Given the description of an element on the screen output the (x, y) to click on. 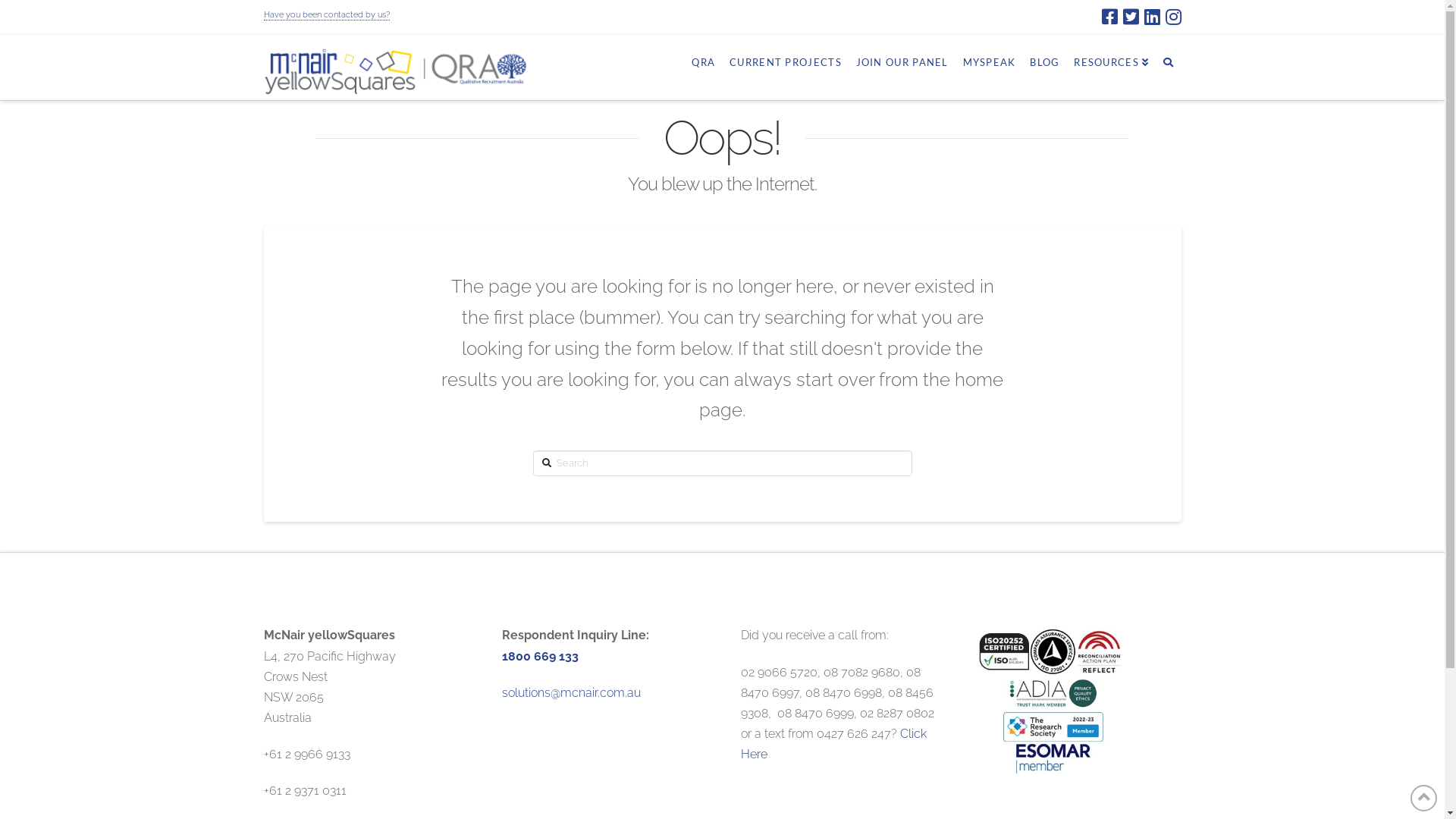
Twitter Element type: hover (1130, 16)
Back to Top Element type: hover (1423, 797)
Instagram Element type: hover (1172, 16)
RESOURCES Element type: text (1110, 60)
Have you been contacted by us? Element type: text (326, 14)
CURRENT PROJECTS Element type: text (784, 60)
solutions@mcnair.com.au Element type: text (571, 692)
Click Here Element type: text (833, 743)
1800 669 133 Element type: text (540, 656)
MYSPEAK Element type: text (988, 60)
JOIN OUR PANEL Element type: text (901, 60)
QRA Element type: text (702, 60)
Facebook Element type: hover (1109, 16)
LinkedIn Element type: hover (1151, 16)
BLOG Element type: text (1044, 60)
